Given the description of an element on the screen output the (x, y) to click on. 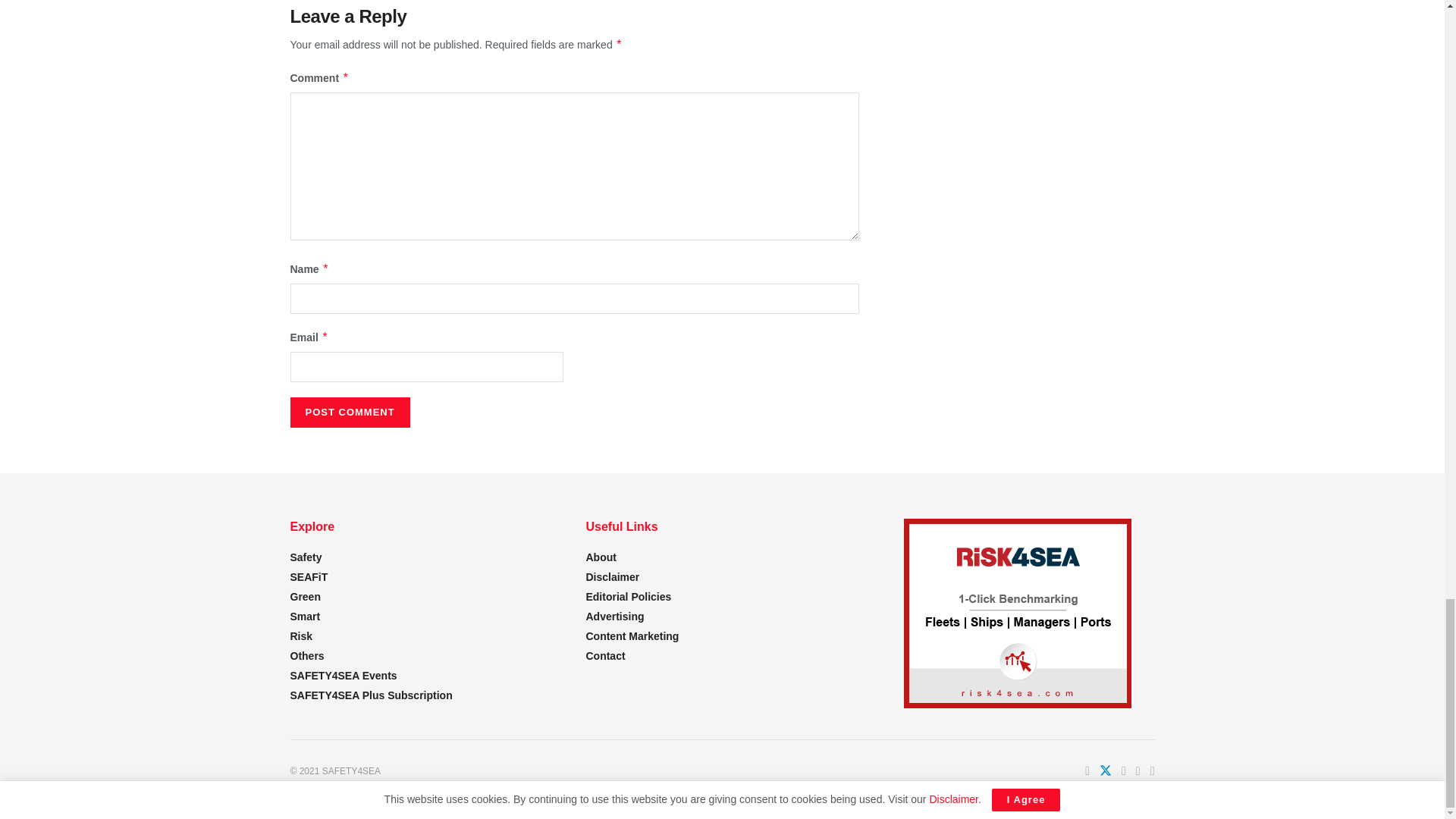
Post Comment (349, 412)
